Given the description of an element on the screen output the (x, y) to click on. 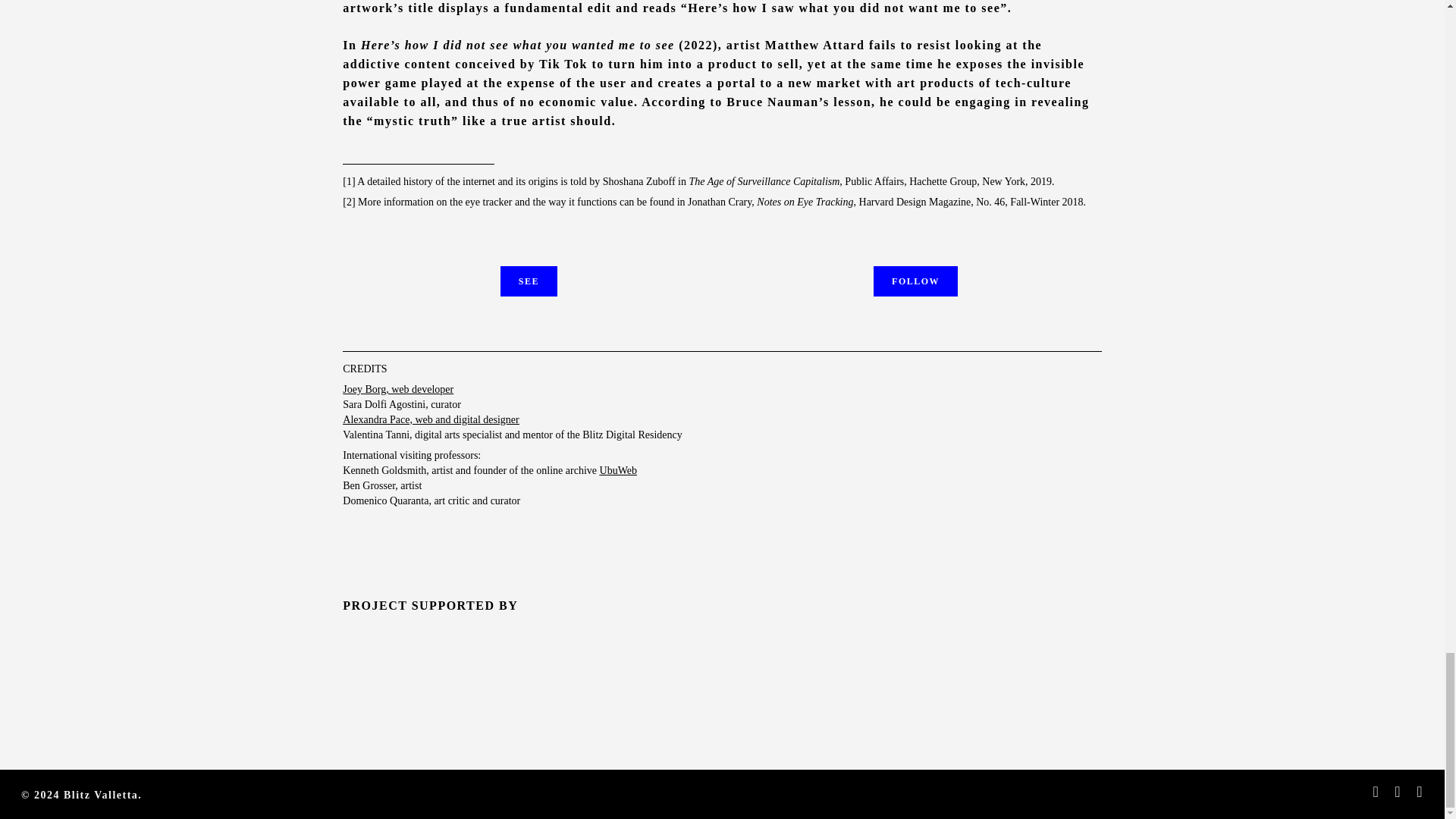
SEE (528, 281)
FOLLOW (915, 281)
Joey Borg, web developer (397, 389)
Alexandra Pace, web and digital designer (430, 419)
UbuWeb (618, 470)
